Given the description of an element on the screen output the (x, y) to click on. 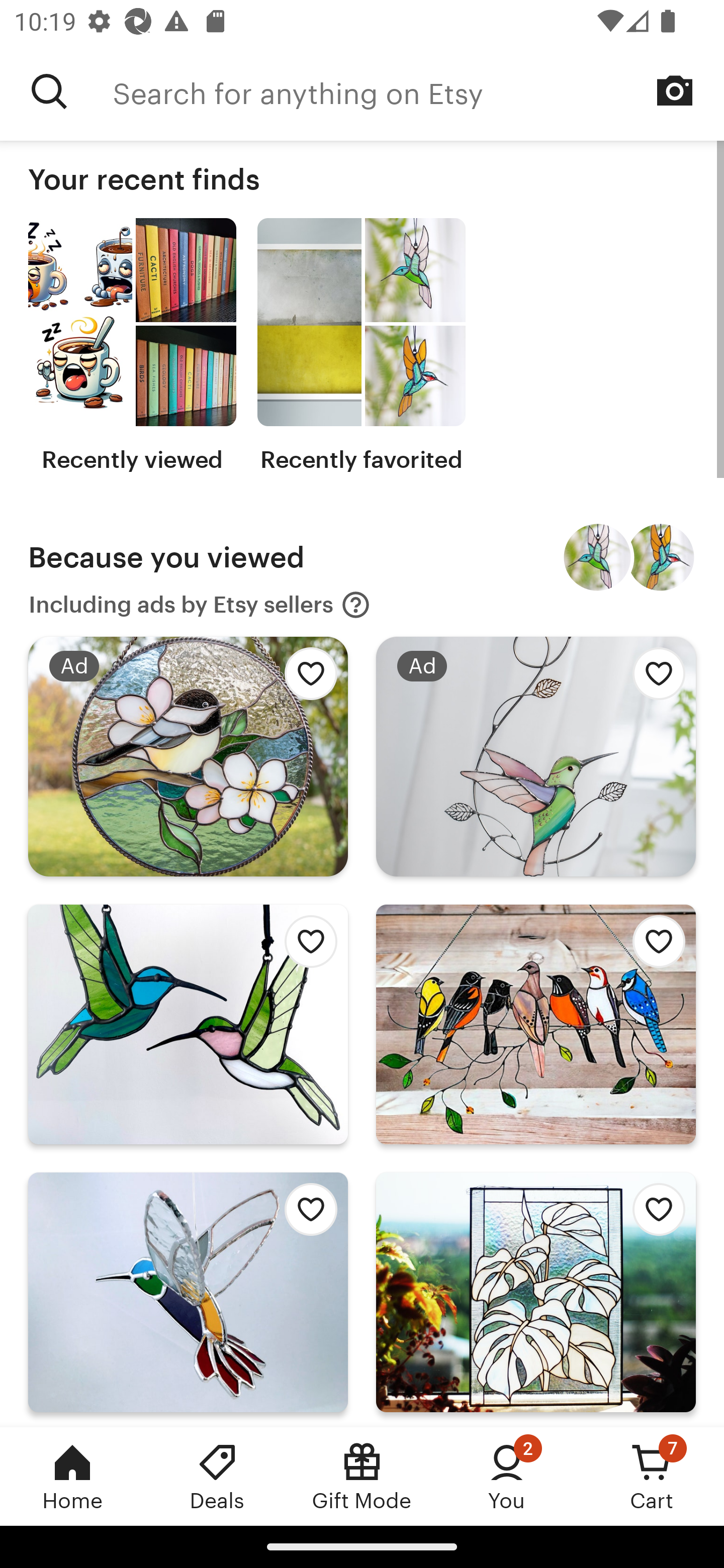
Search for anything on Etsy (49, 91)
Search by image (674, 90)
Search for anything on Etsy (418, 91)
Recently viewed (132, 345)
Recently favorited (361, 345)
Including ads by Etsy sellers (199, 604)
Deals (216, 1475)
Gift Mode (361, 1475)
You, 2 new notifications You (506, 1475)
Cart, 7 new notifications Cart (651, 1475)
